Given the description of an element on the screen output the (x, y) to click on. 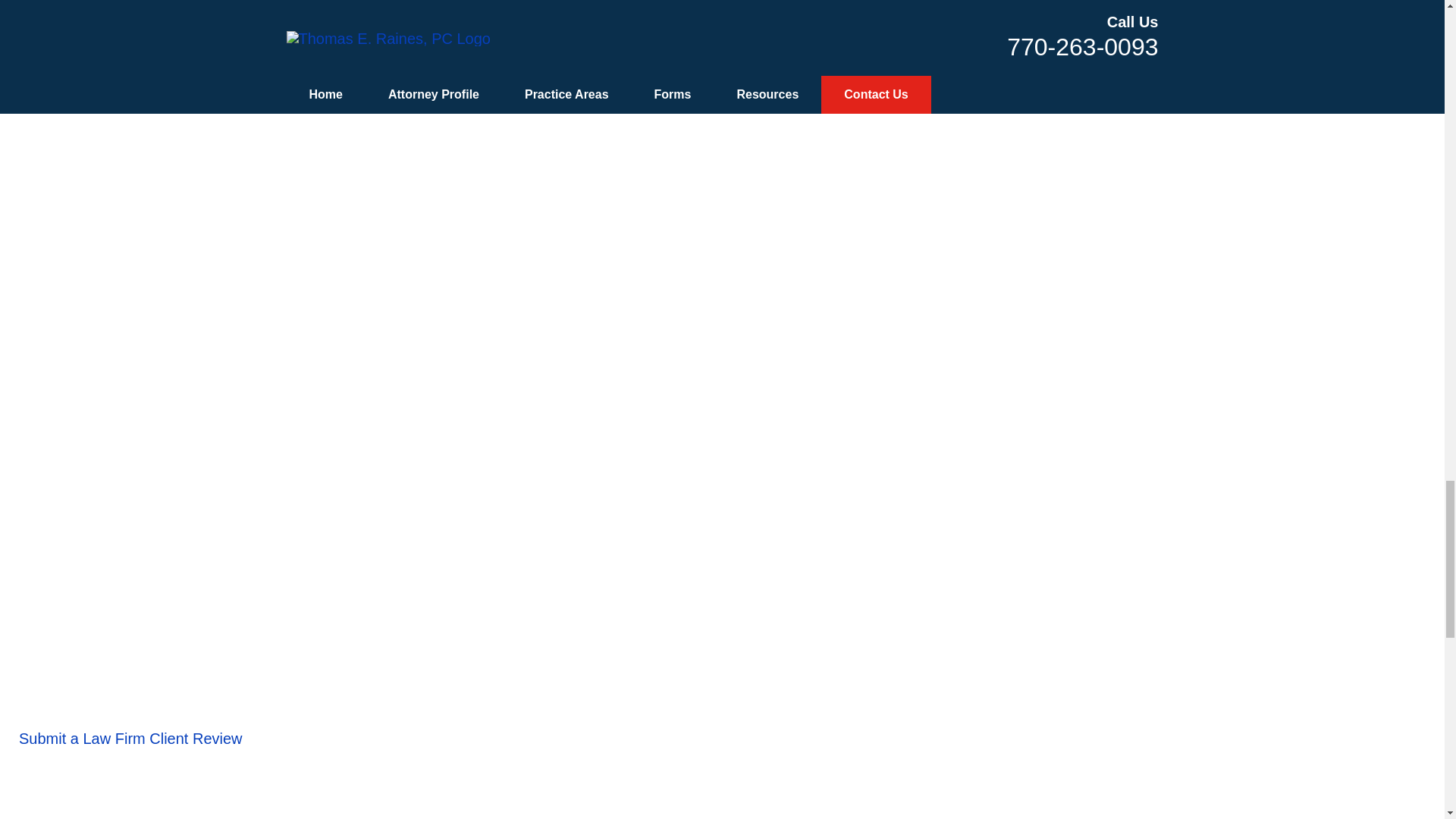
Submit a Law Firm Client Review (130, 738)
